Given the description of an element on the screen output the (x, y) to click on. 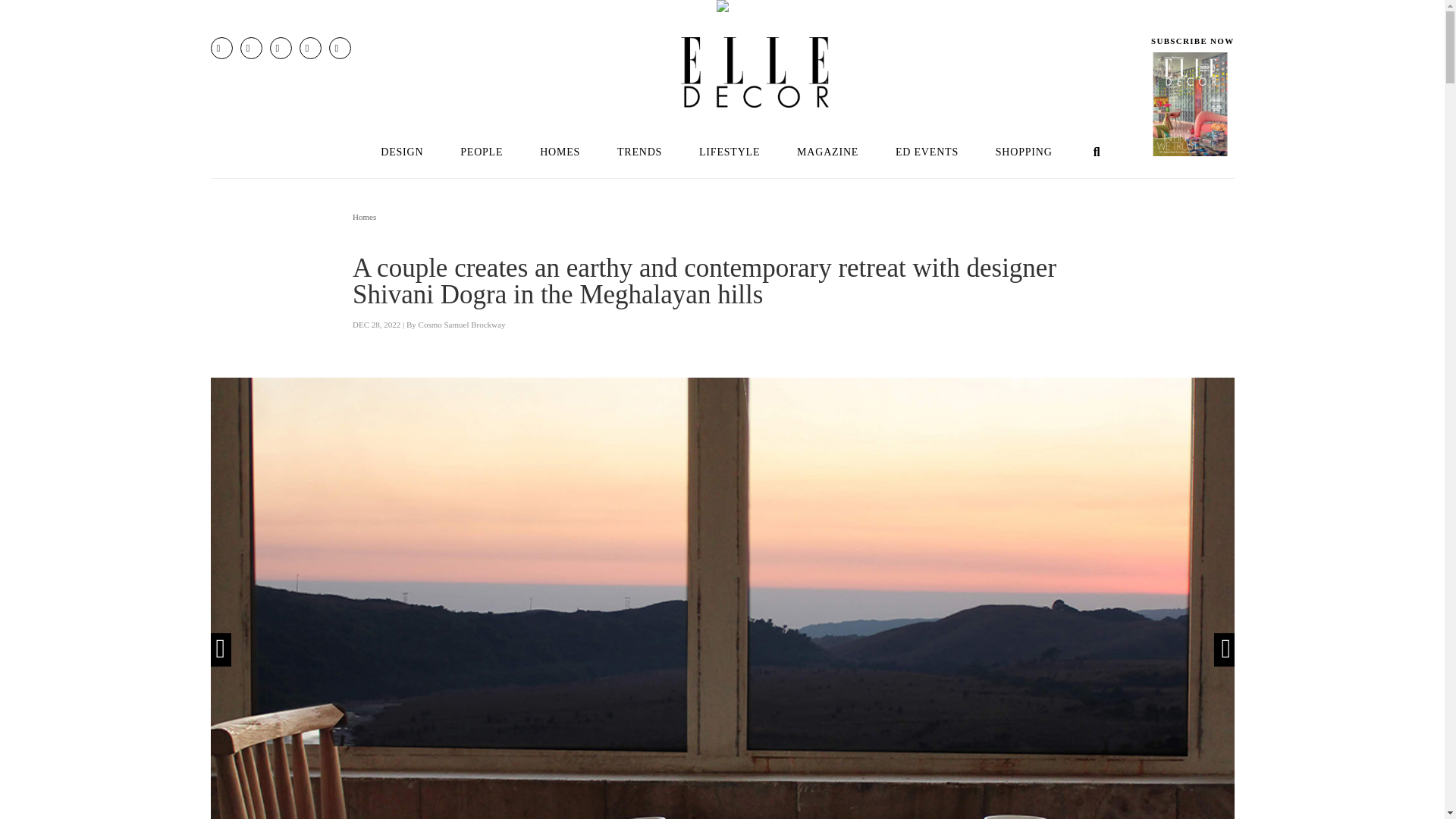
PEOPLE (481, 151)
DESIGN (401, 151)
MAGAZINE (827, 151)
TRENDS (639, 151)
SHOPPING (1023, 151)
LIFESTYLE (729, 151)
ED EVENTS (927, 151)
HOMES (559, 151)
